Given the description of an element on the screen output the (x, y) to click on. 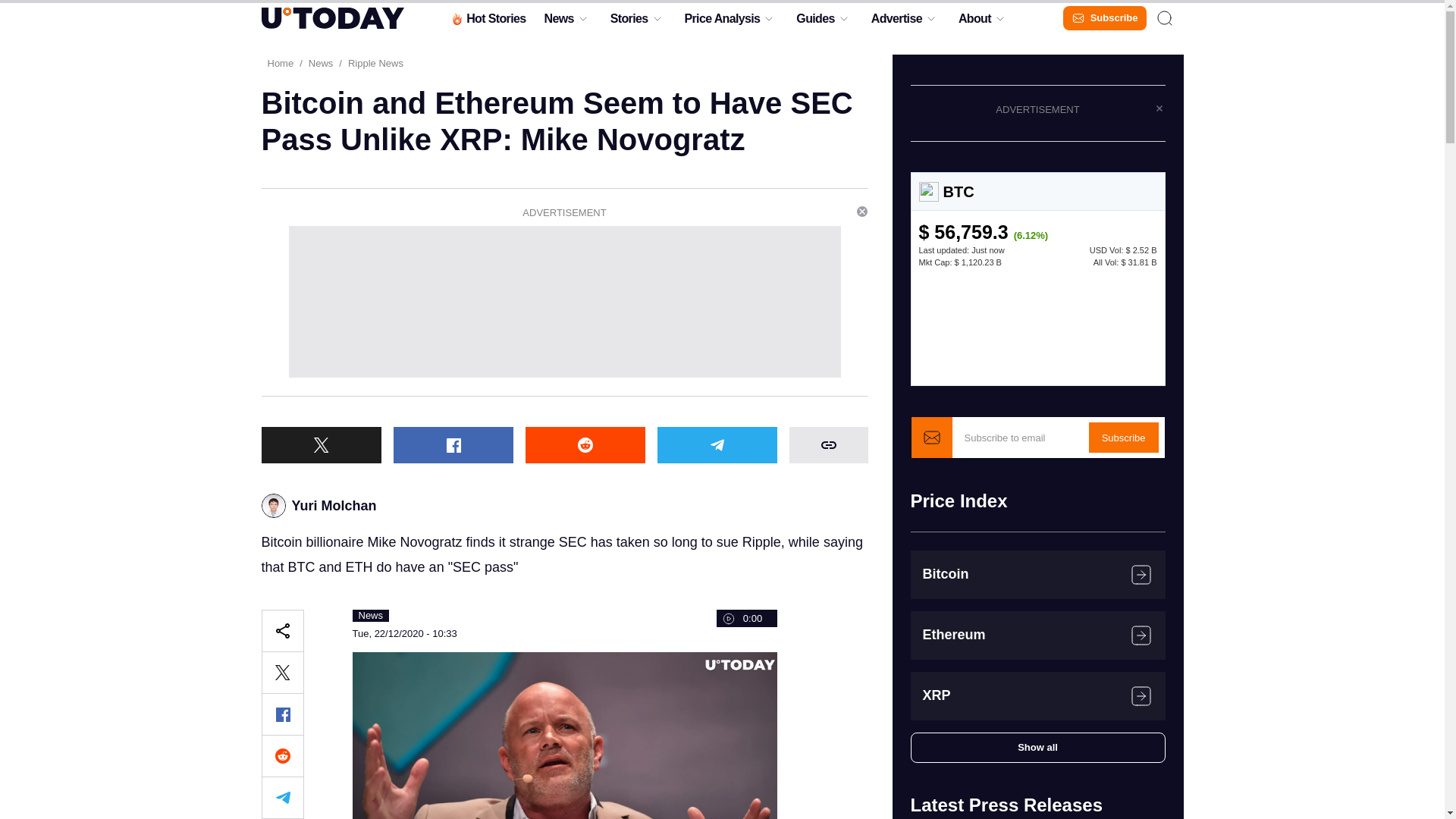
Hot Stories (486, 22)
Share to X (320, 444)
Share to Telegram (716, 444)
U.Today logo (331, 17)
Share to Reddit (281, 755)
Share to Facebook (452, 444)
Share to Reddit (584, 444)
Advertisement (564, 301)
Share to Facebook (281, 713)
News (558, 22)
